Given the description of an element on the screen output the (x, y) to click on. 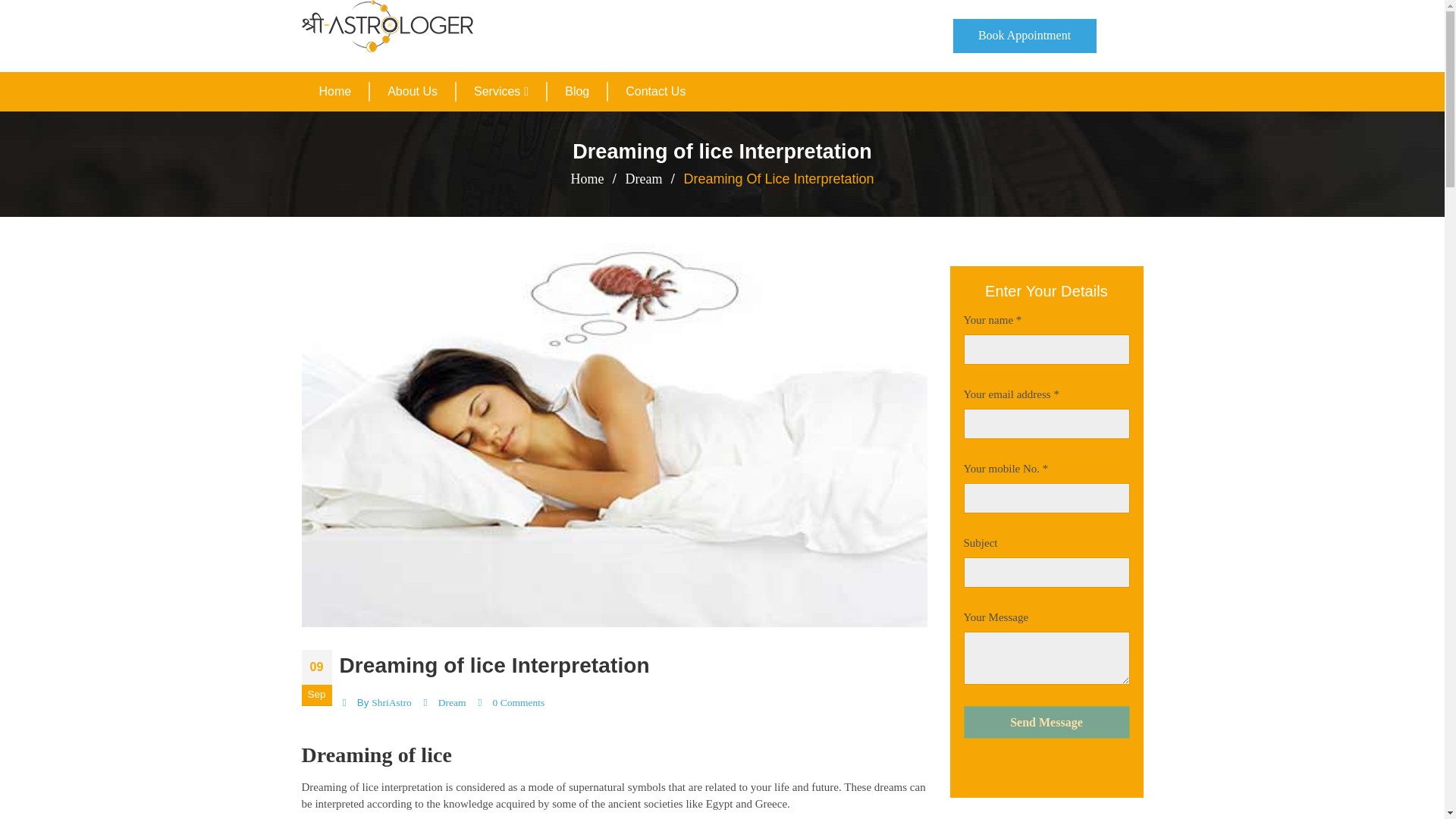
Contact Us (655, 91)
ShriAstro (391, 702)
About Us (411, 91)
Services (501, 91)
Book Appointment (1024, 35)
Blog (577, 91)
0 Comments (518, 702)
Posts by ShriAstro (391, 702)
Dream (643, 178)
Send Message (1045, 721)
